Given the description of an element on the screen output the (x, y) to click on. 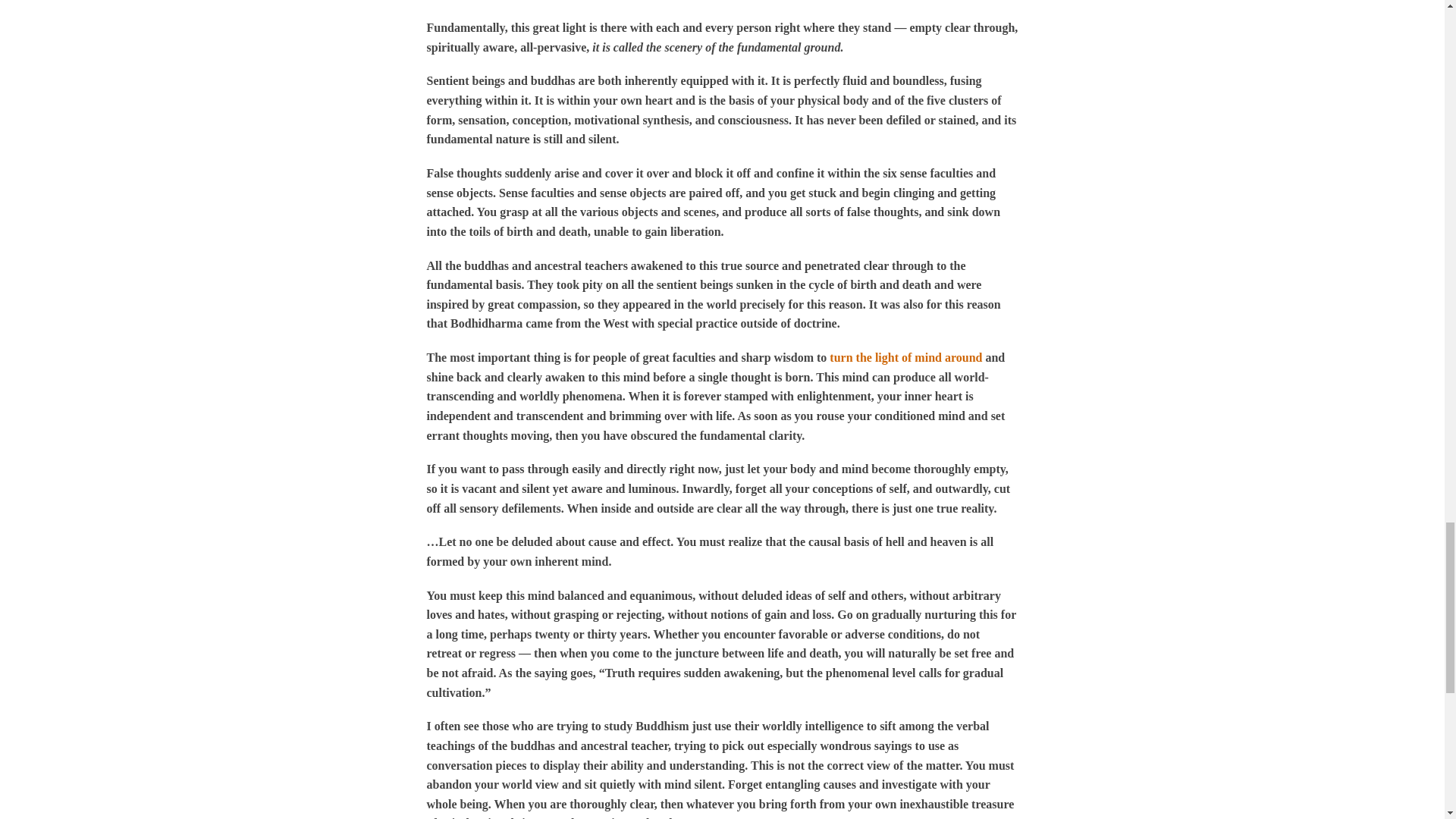
turn the light of mind around (905, 357)
